Given the description of an element on the screen output the (x, y) to click on. 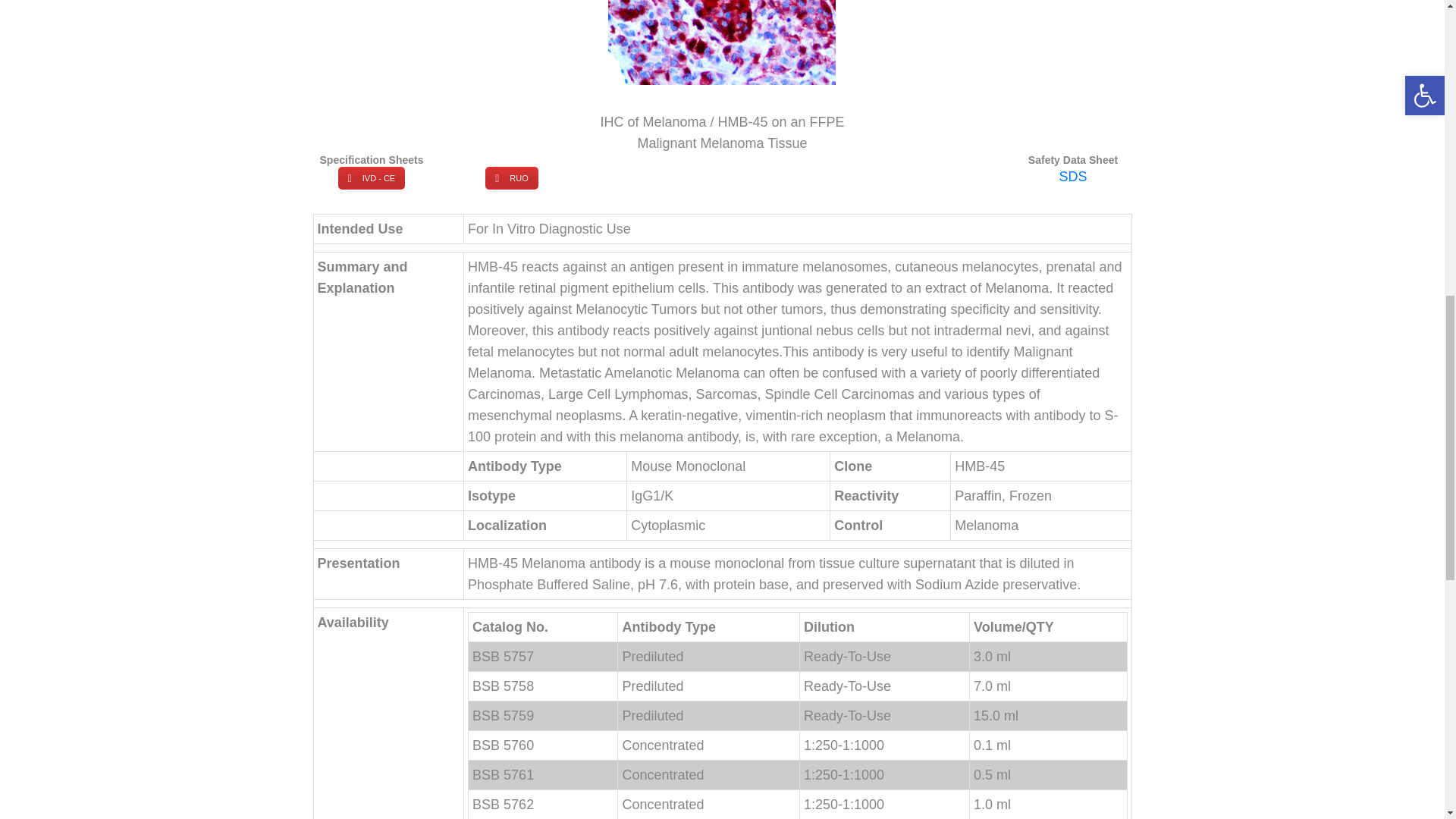
Melanosome - Mmab 1 (721, 42)
IVD - CE (370, 178)
RUO (510, 178)
SDS (1072, 176)
